Given the description of an element on the screen output the (x, y) to click on. 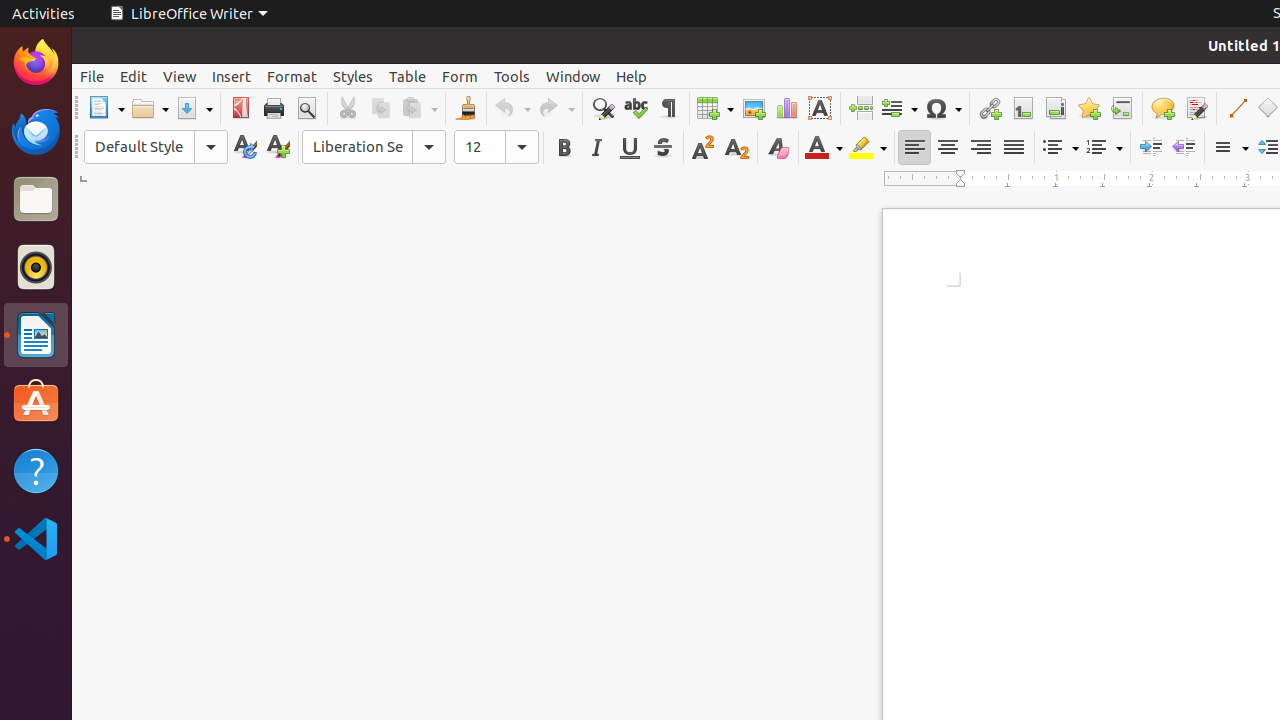
Italic Element type: toggle-button (596, 147)
Text Box Element type: push-button (819, 108)
